Given the description of an element on the screen output the (x, y) to click on. 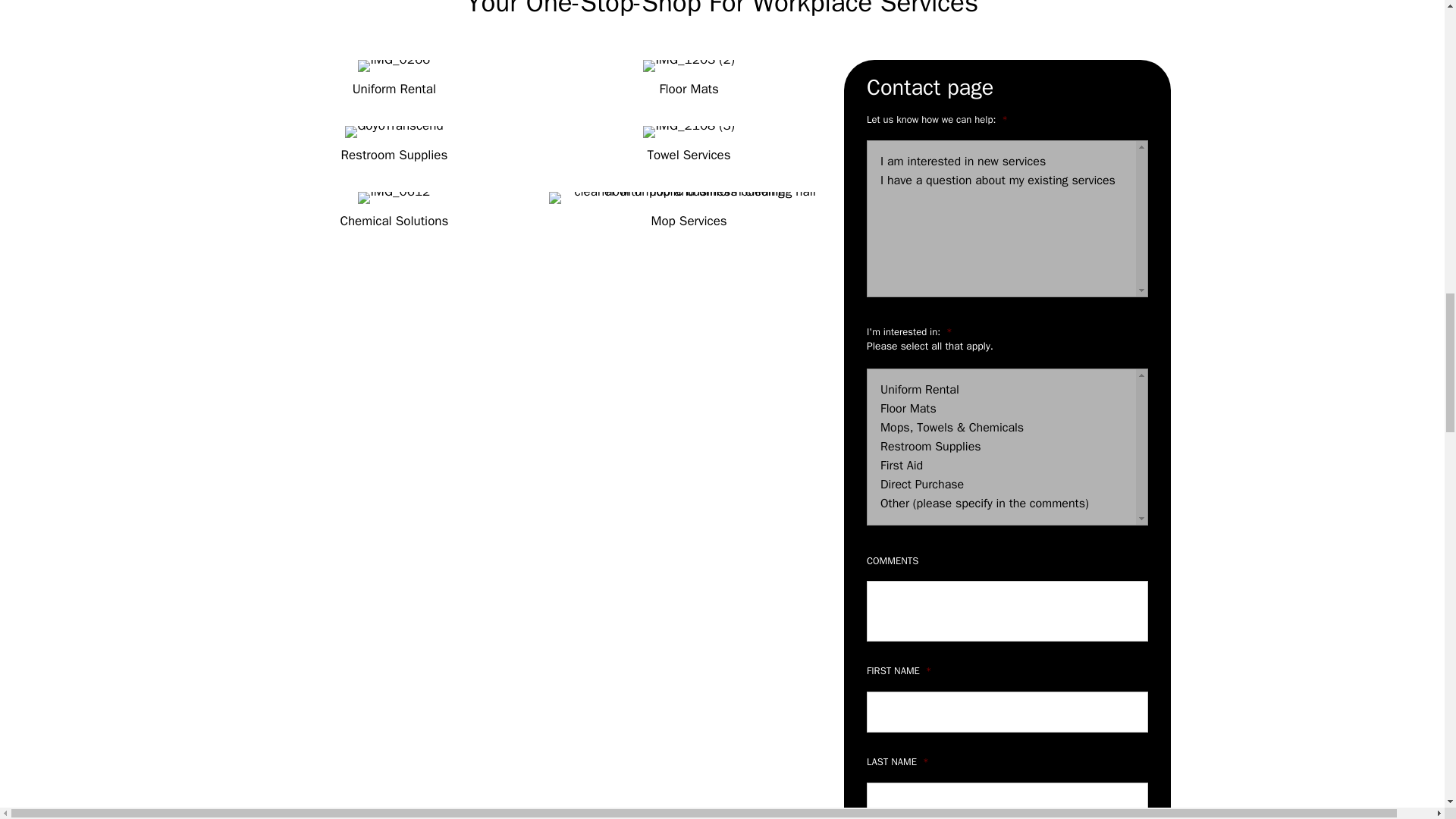
Uniform Rental (393, 89)
Chemical Solutions (393, 220)
Towel Services (688, 154)
Floor Mats (688, 89)
GoyoTranscend (393, 132)
Restroom Supplies (393, 154)
